Given the description of an element on the screen output the (x, y) to click on. 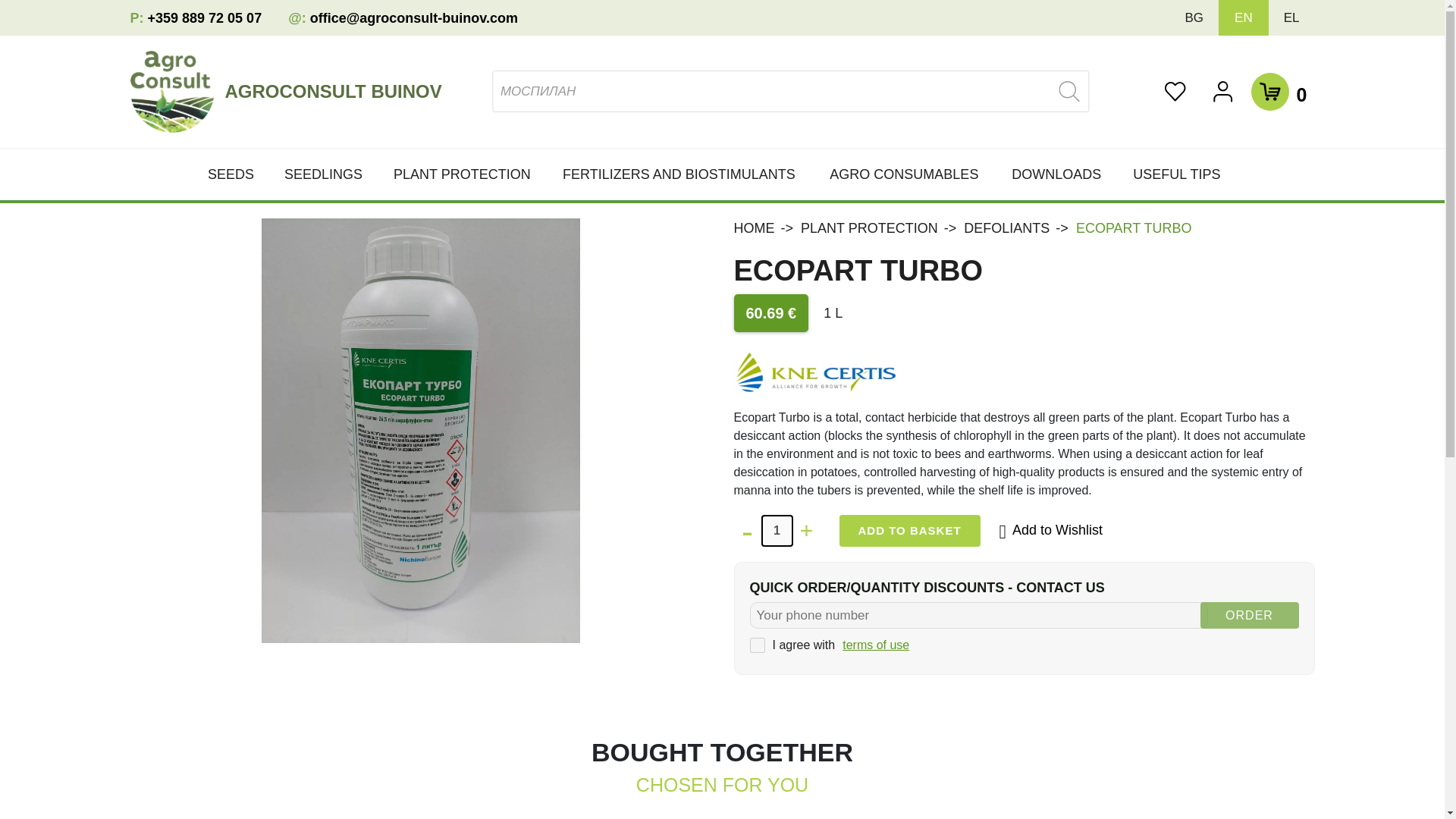
EL (1292, 17)
BG (1194, 17)
on (756, 645)
SEEDS (238, 174)
1 (777, 531)
EN (1243, 17)
AGROCONSULT BUINOV (338, 91)
Qty (777, 531)
